Given the description of an element on the screen output the (x, y) to click on. 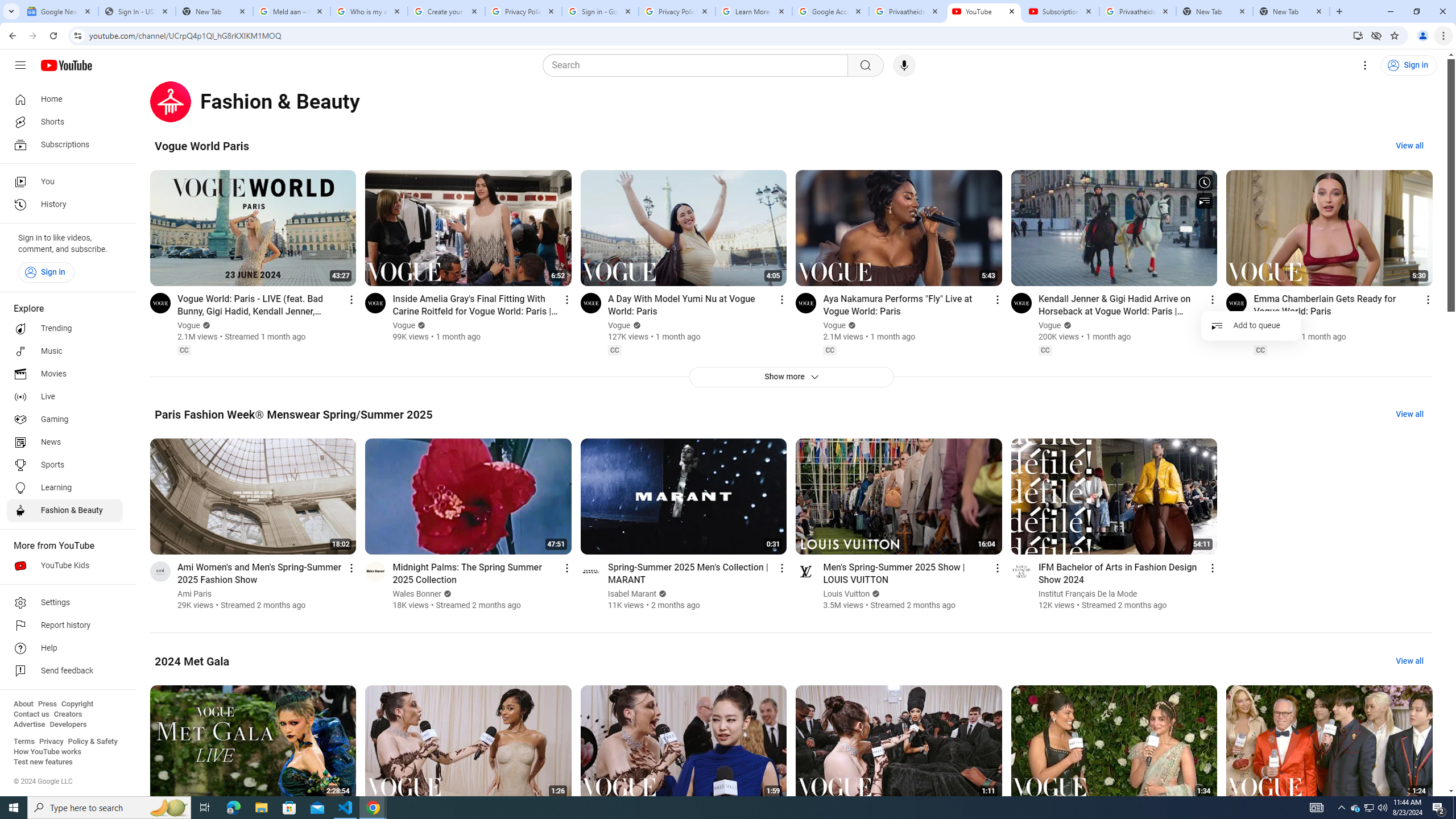
How YouTube works (47, 751)
Vogue World Paris (201, 145)
Send feedback (64, 671)
Search (697, 65)
Press (46, 703)
Search (865, 65)
